Given the description of an element on the screen output the (x, y) to click on. 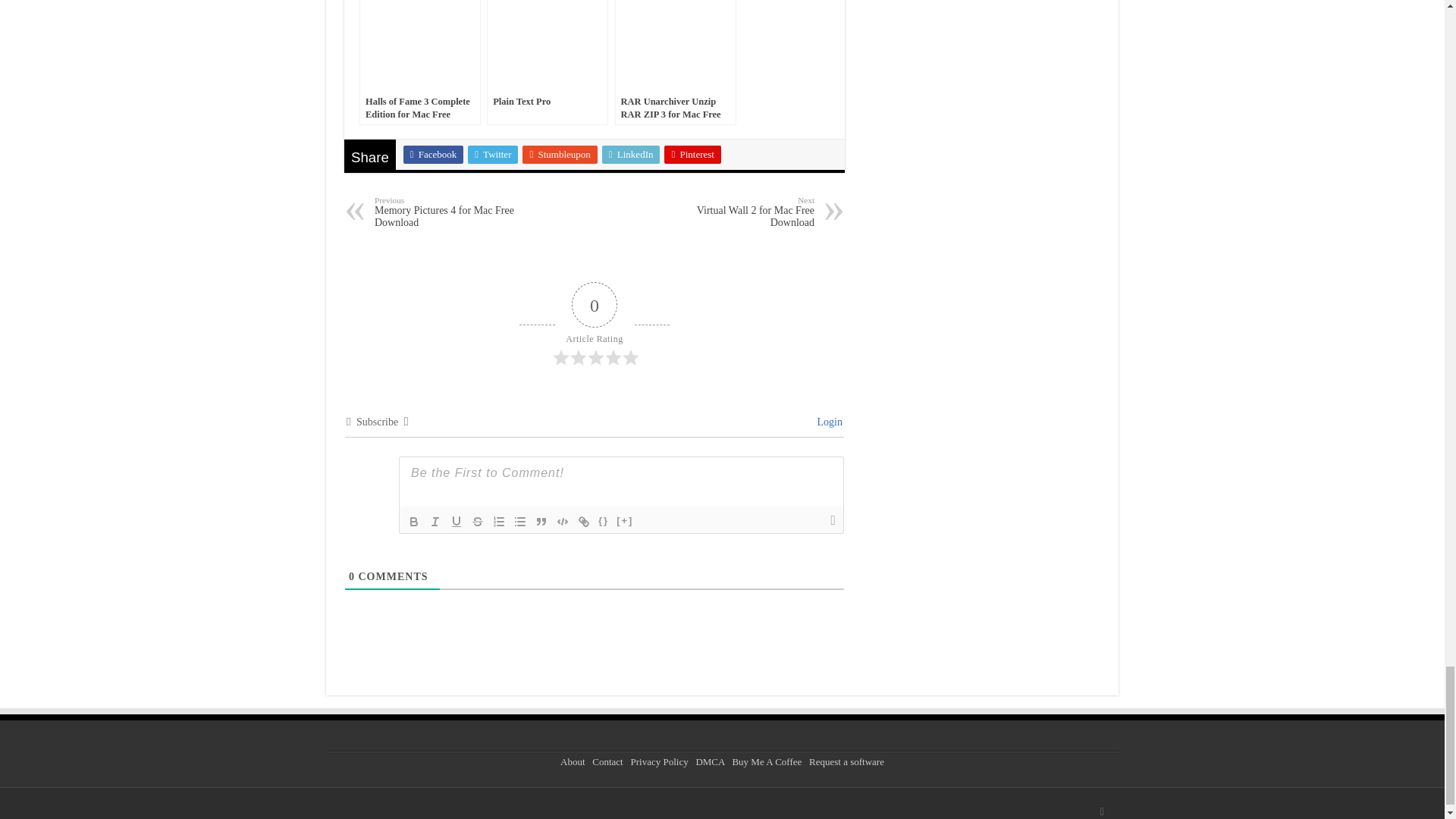
Stumbleupon (559, 154)
RAR Unarchiver Unzip RAR ZIP 3 for Mac Free Download (674, 62)
LinkedIn (631, 154)
Italic (435, 521)
Facebook (433, 154)
Bold (414, 521)
Halls of Fame 3 Complete Edition for Mac Free Download (419, 62)
Plain Text Pro (547, 62)
Halls of Fame 3 Complete Edition for Mac Free Download (419, 62)
Underline (456, 521)
